Given the description of an element on the screen output the (x, y) to click on. 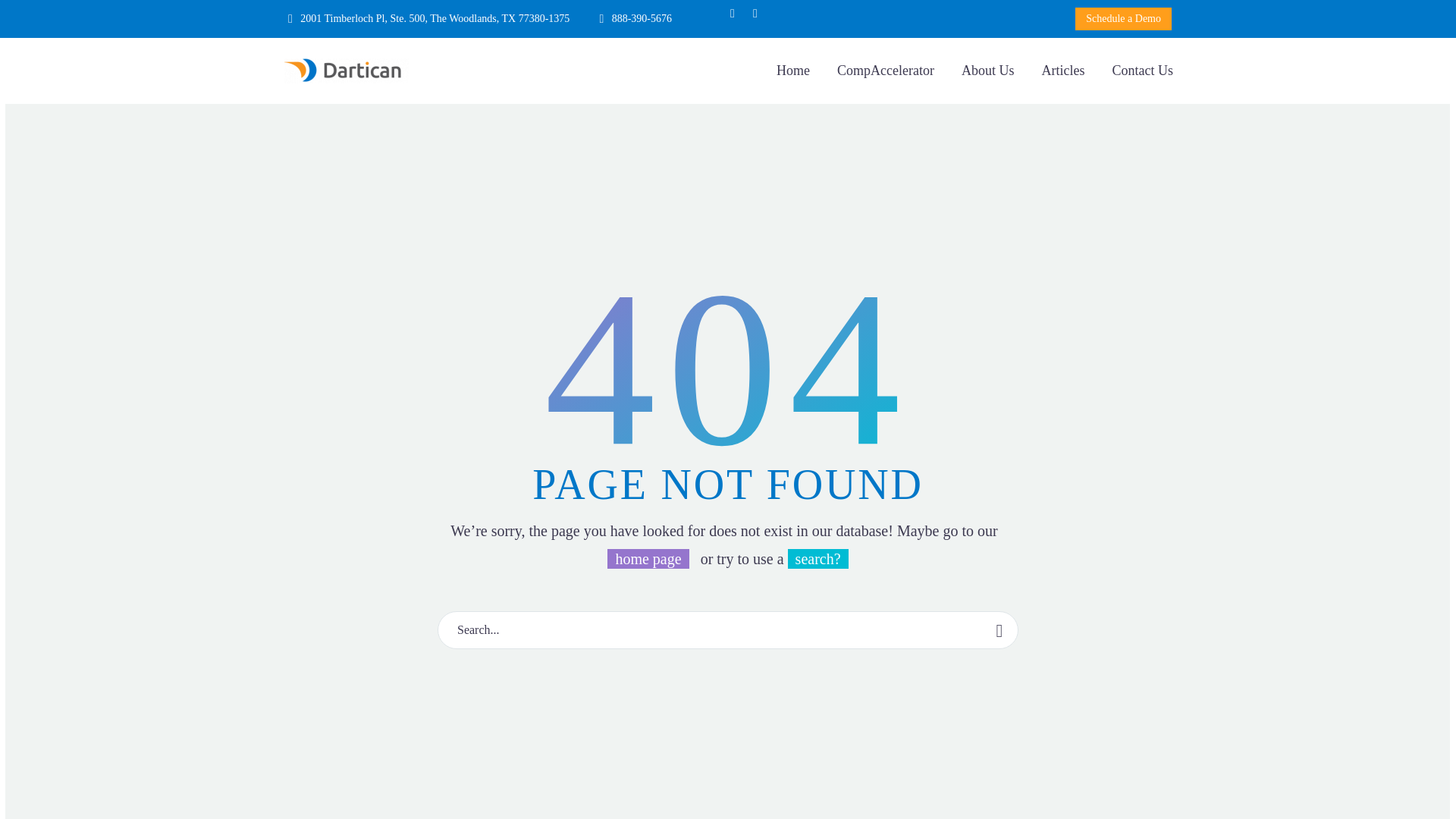
Facebook (732, 13)
About Us (988, 70)
Articles (1063, 70)
Schedule a Demo (1123, 18)
home page (647, 558)
CompAccelerator (884, 70)
888-390-5676 (641, 18)
LinkedIn (755, 13)
search? (817, 558)
Contact Us (1142, 70)
